Given the description of an element on the screen output the (x, y) to click on. 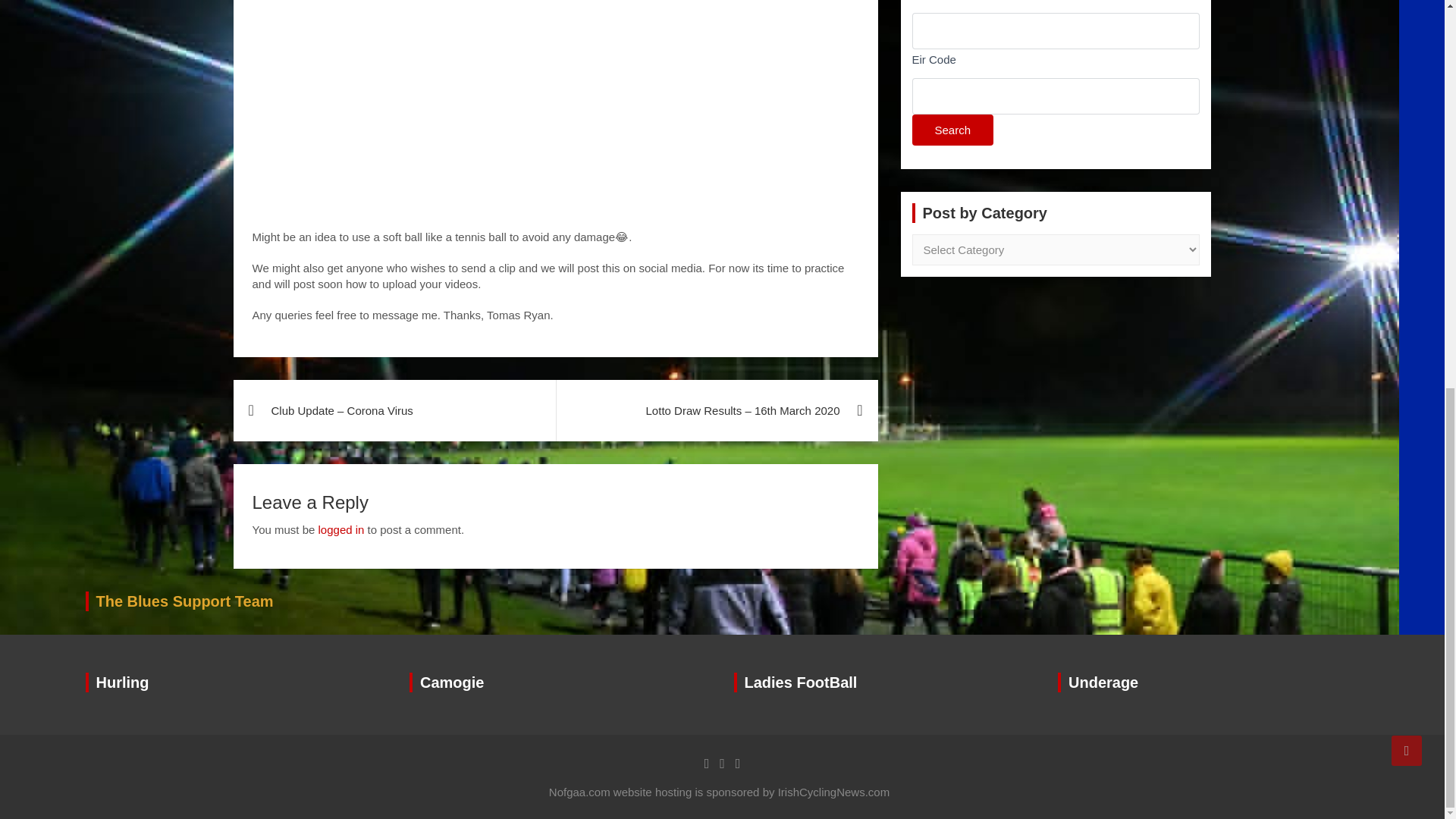
Search (951, 129)
Search (951, 129)
logged in (341, 529)
Search (951, 129)
